Given the description of an element on the screen output the (x, y) to click on. 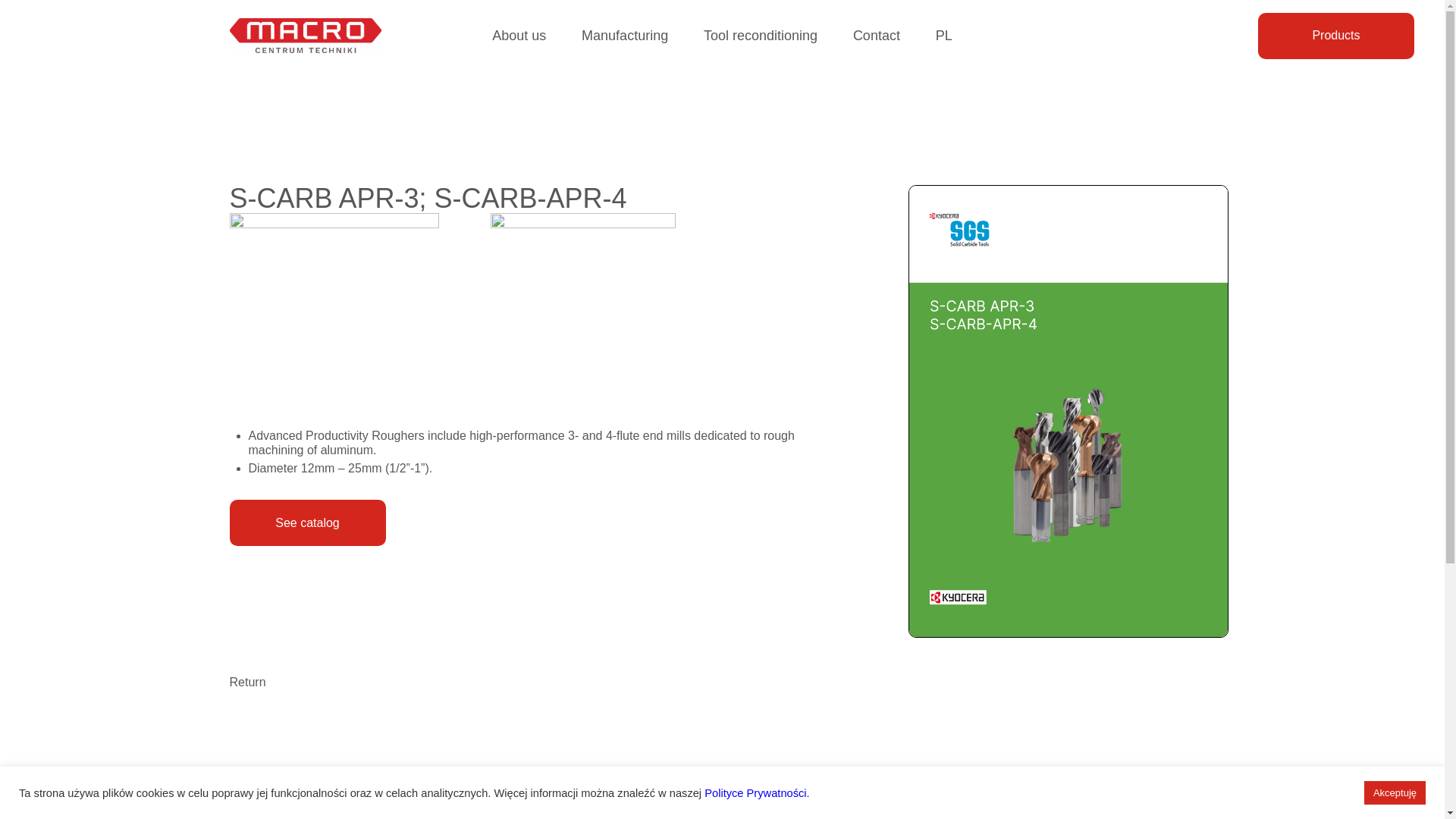
Products (1335, 35)
Manufacturing (624, 35)
About us (519, 35)
Contact (876, 35)
PL (944, 35)
Tool reconditioning (759, 35)
